Given the description of an element on the screen output the (x, y) to click on. 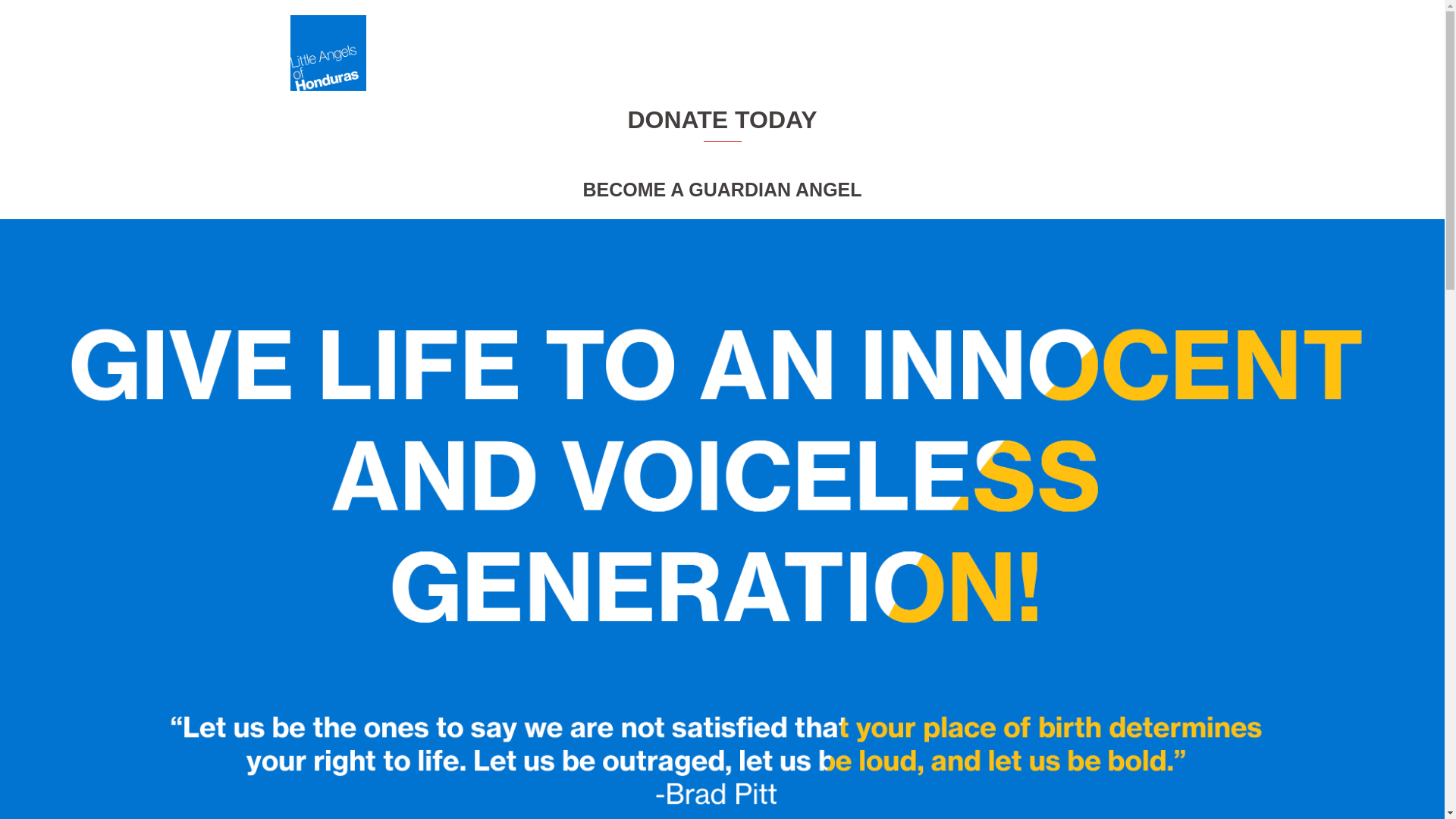
Our Purpose (778, 53)
Home (711, 53)
Contact Us (921, 53)
Donate (1053, 53)
Volunteer (850, 53)
Build Hope (1118, 53)
Facebook (991, 53)
